Given the description of an element on the screen output the (x, y) to click on. 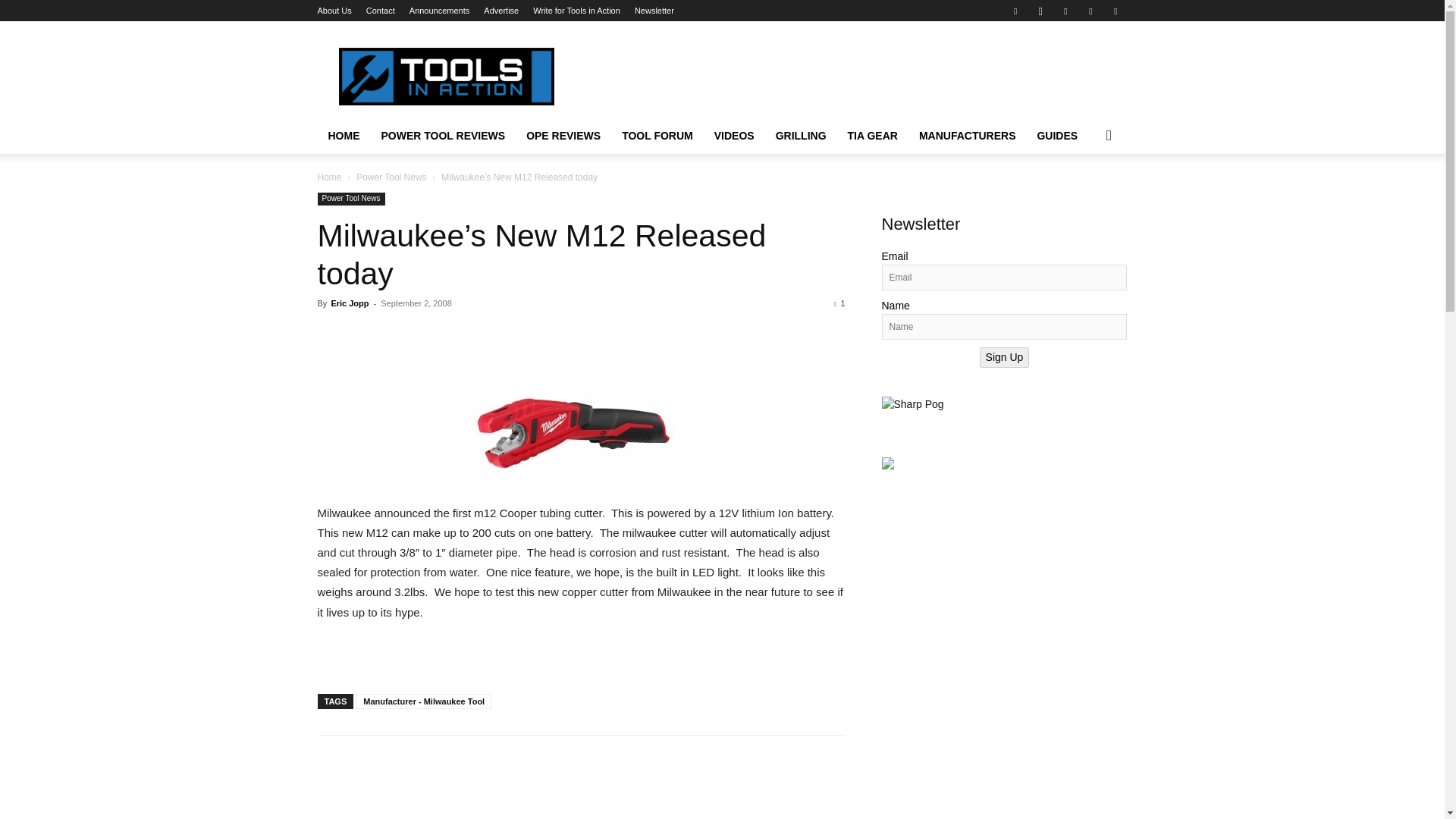
Pinterest (1065, 10)
View all posts in Power Tool News (391, 176)
POWER TOOL REVIEWS (442, 135)
Facebook (1015, 10)
Announcements (439, 10)
MANUFACTURERS (967, 135)
Advertise (500, 10)
VIDEOS (734, 135)
TOOL FORUM (657, 135)
Tools in Action (445, 76)
